Given the description of an element on the screen output the (x, y) to click on. 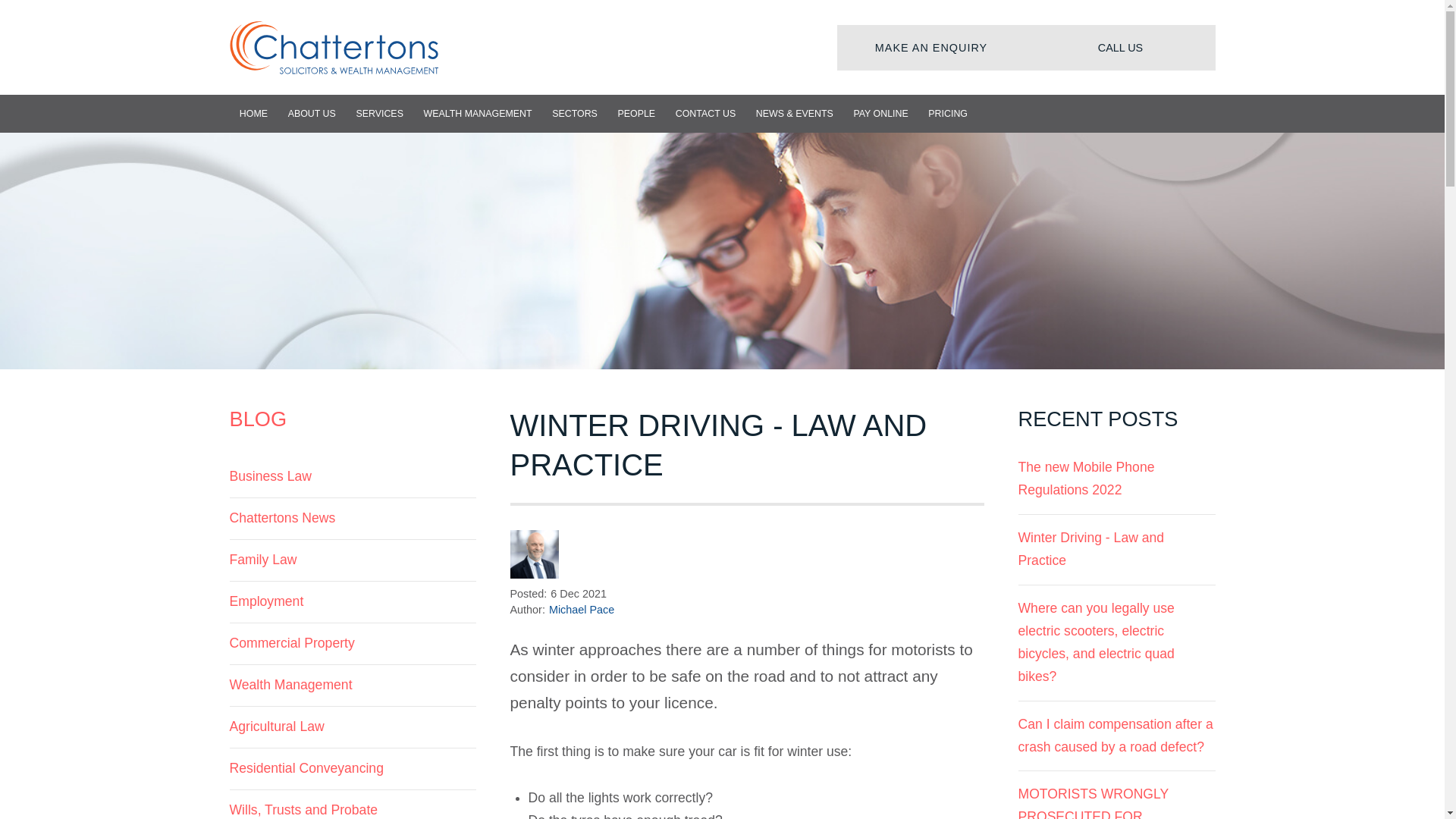
MAKE AN ENQUIRY (931, 46)
HOME (253, 113)
CALL US (1119, 46)
View profile for Michael Pace (533, 553)
